Given the description of an element on the screen output the (x, y) to click on. 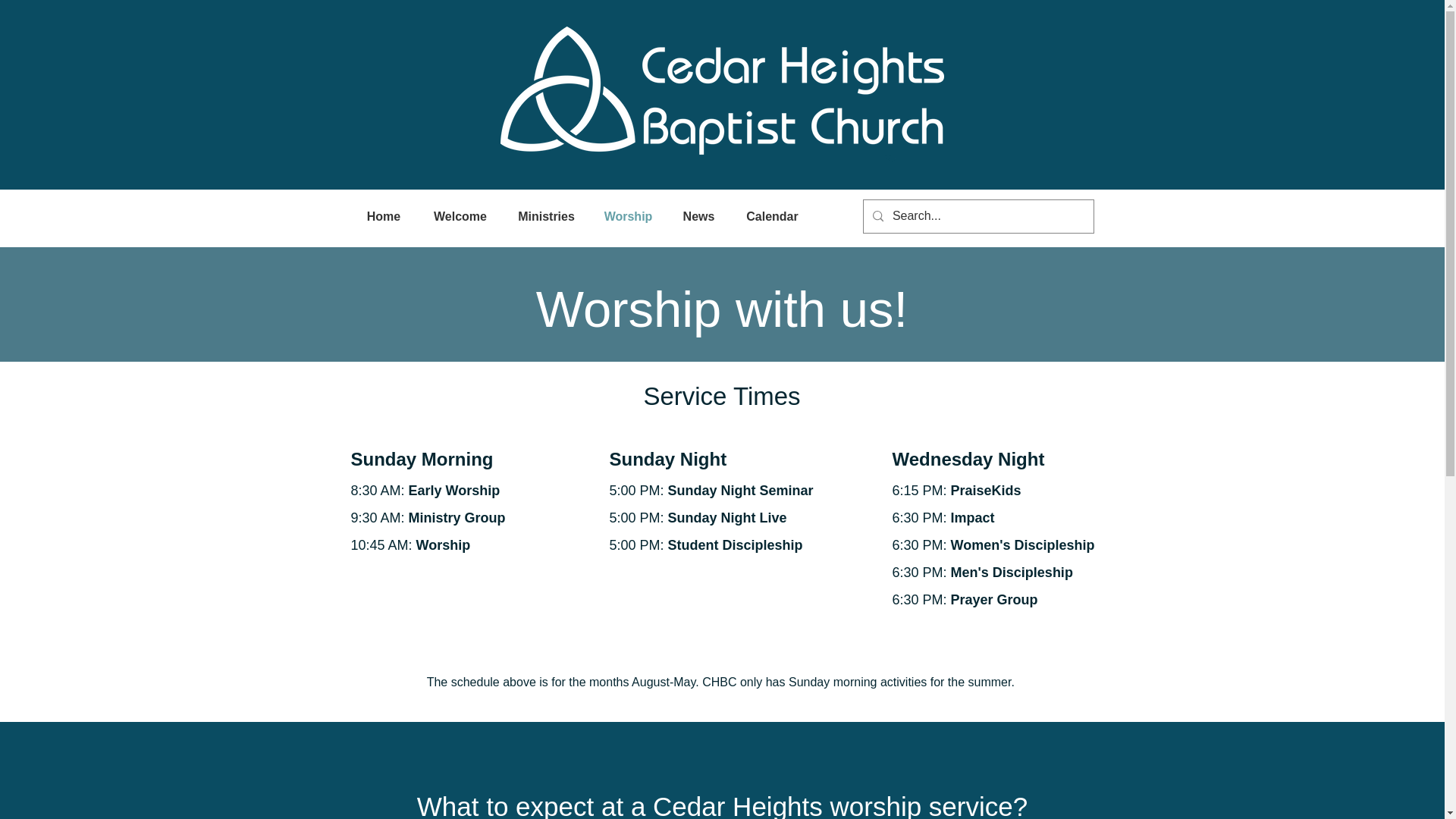
Worship (627, 216)
Worship (443, 544)
Home (383, 216)
Welcome (459, 216)
PraiseKids (986, 490)
Ministries (545, 216)
Sunday Night Live  (729, 517)
Women's Discipleship (1022, 544)
Student Discipleship (735, 544)
Ministry Group (457, 517)
